Given the description of an element on the screen output the (x, y) to click on. 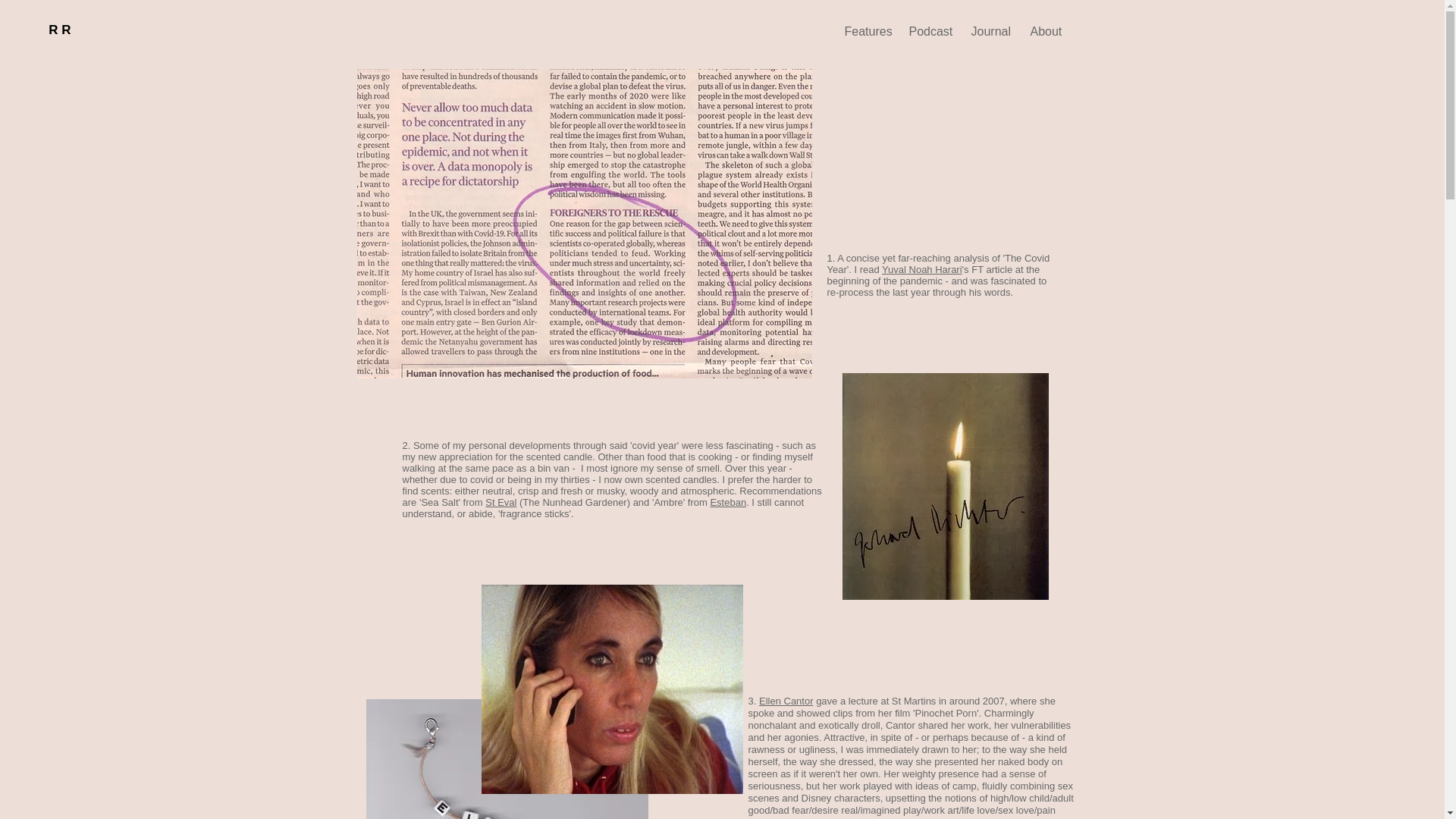
St Eval (500, 501)
About (1046, 31)
Features (864, 31)
Podcast (928, 31)
R R (59, 30)
Esteban (727, 501)
Yuval Noah Harari (922, 269)
Journal (989, 31)
Ellen Cantor (785, 700)
